Given the description of an element on the screen output the (x, y) to click on. 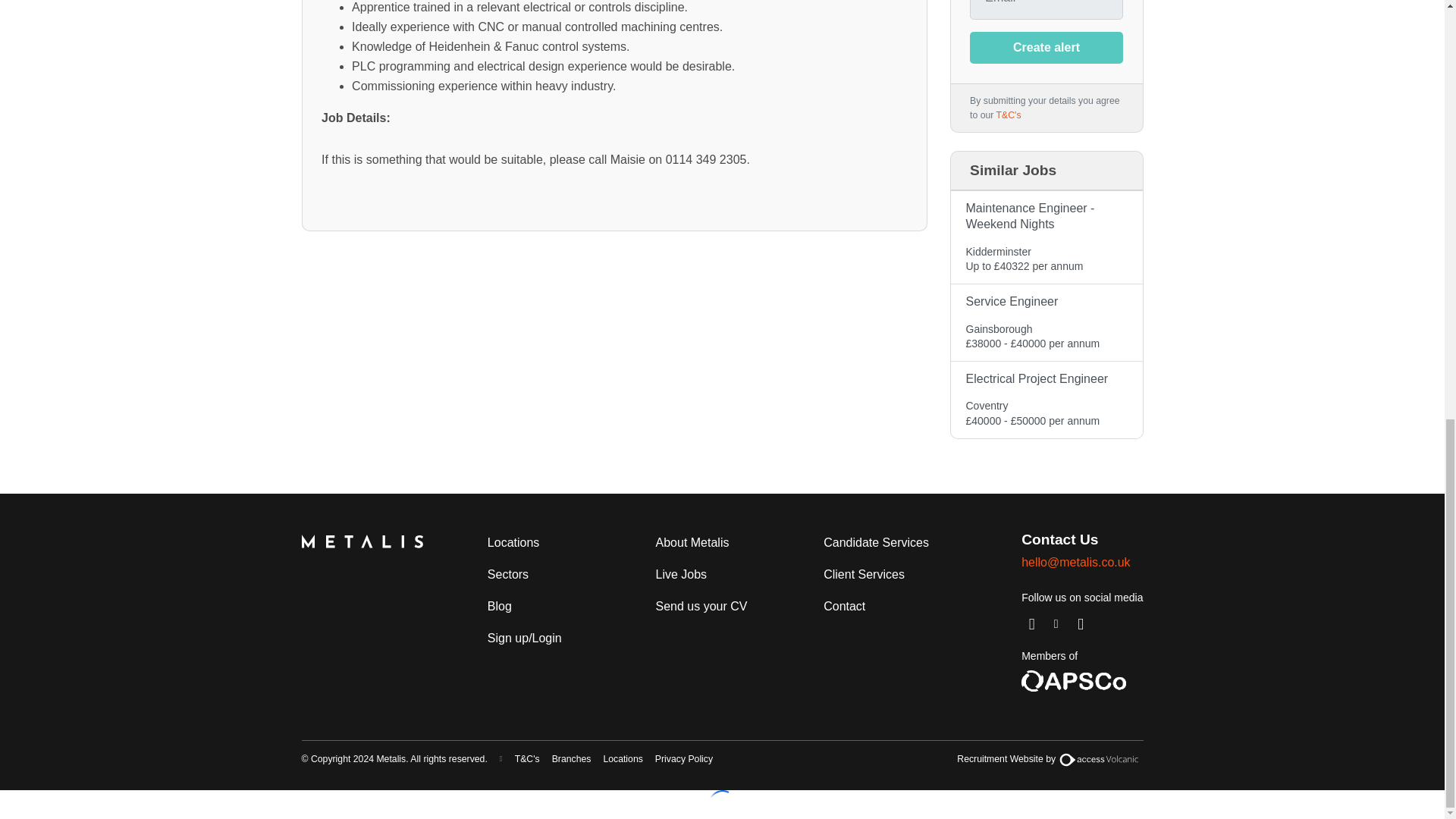
Locations (513, 542)
LinkedIn (1031, 623)
Blog (499, 606)
Live Jobs (681, 574)
Create alert (1045, 47)
Send us your CV (701, 606)
Candidate Services (875, 542)
Branches (571, 759)
Facebook (1080, 623)
Sectors (507, 574)
